Given the description of an element on the screen output the (x, y) to click on. 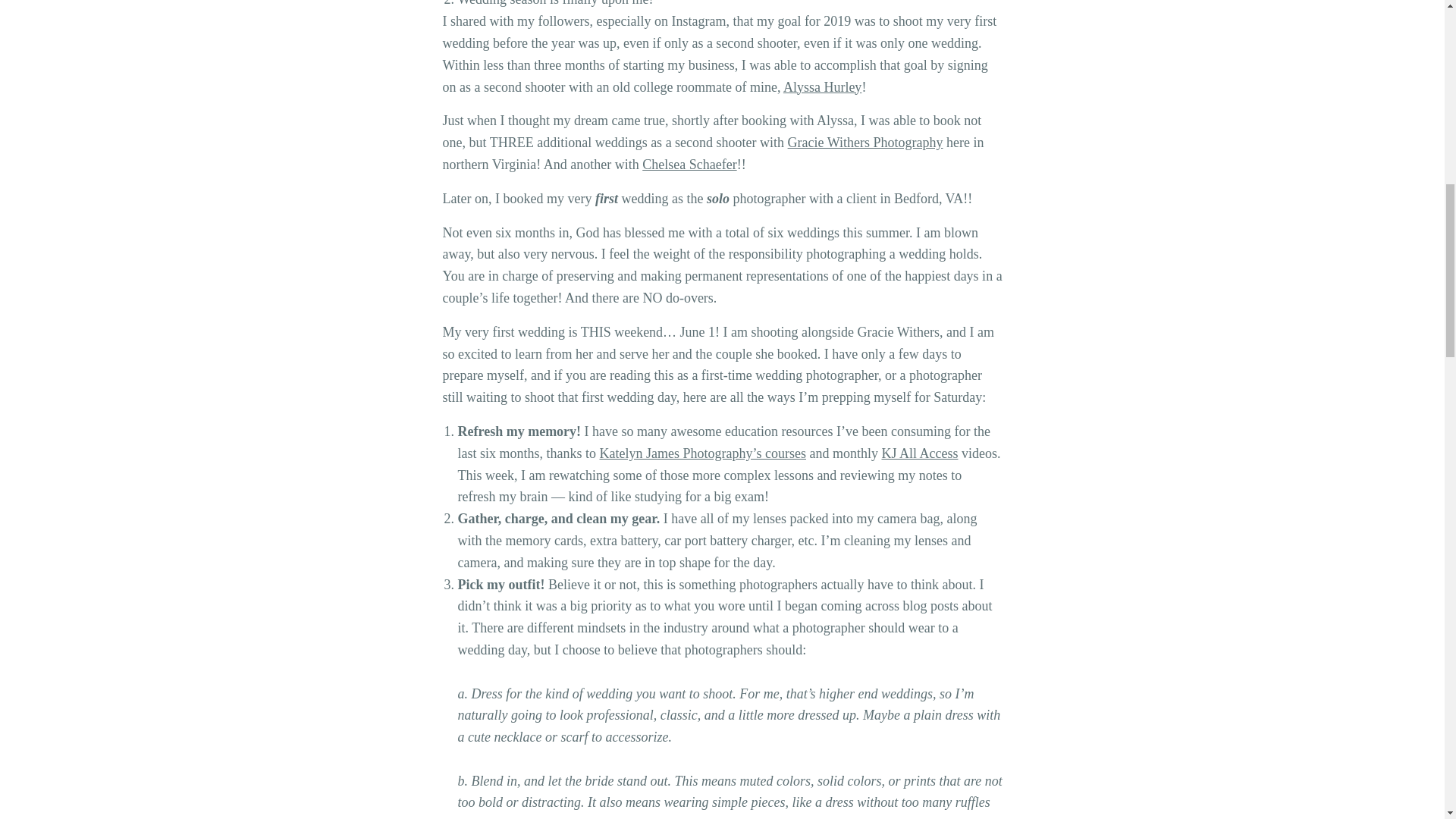
Alyssa Hurley (822, 87)
Gracie Withers Photography (865, 142)
Chelsea Schaefer (689, 164)
KJ All Access (919, 453)
